Given the description of an element on the screen output the (x, y) to click on. 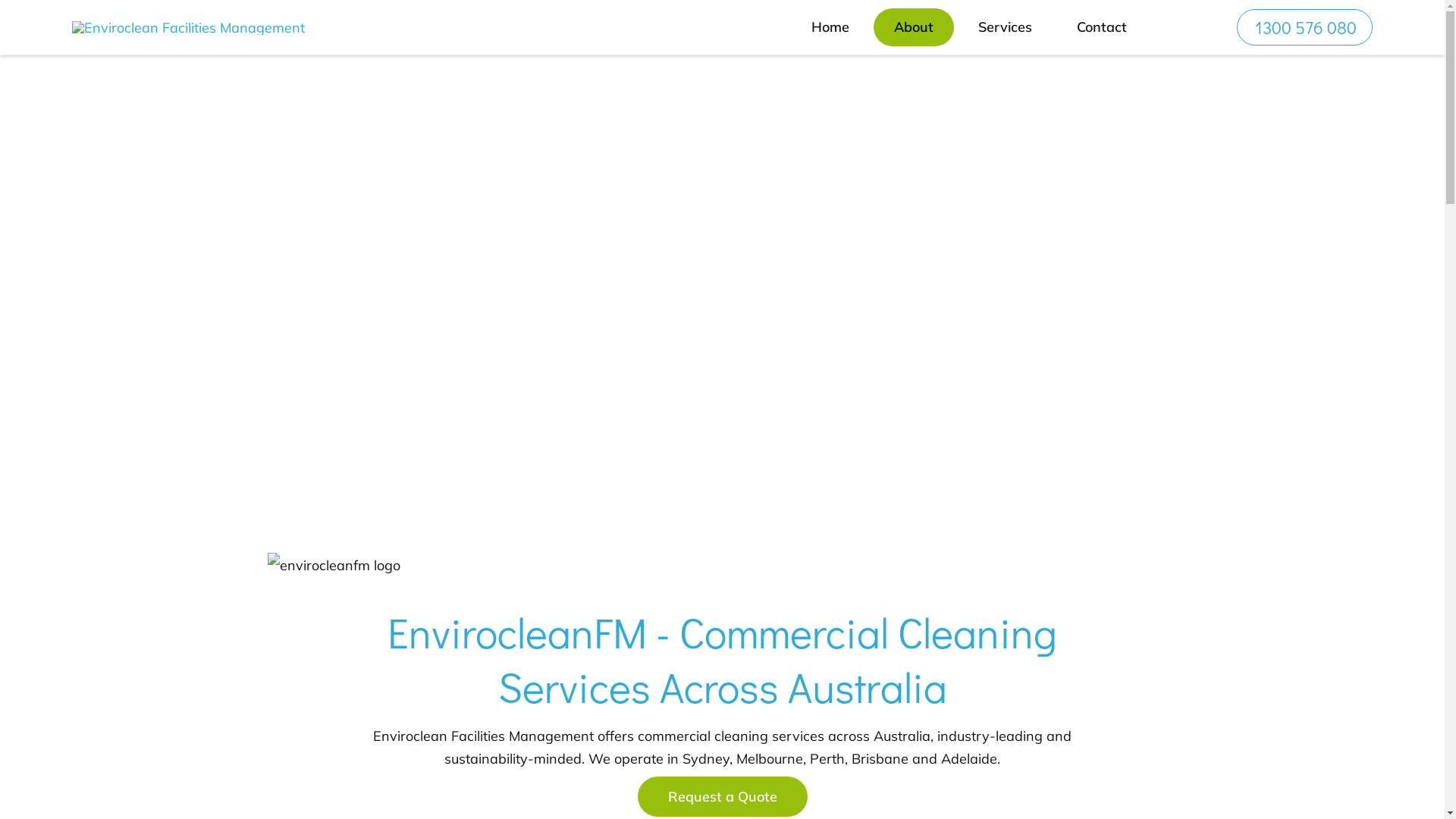
Home Element type: text (829, 27)
1300 576 080 Element type: text (1304, 27)
Contact Element type: text (1101, 27)
About Element type: text (913, 27)
Request a Quote Element type: text (721, 796)
Services Element type: text (1004, 27)
